Given the description of an element on the screen output the (x, y) to click on. 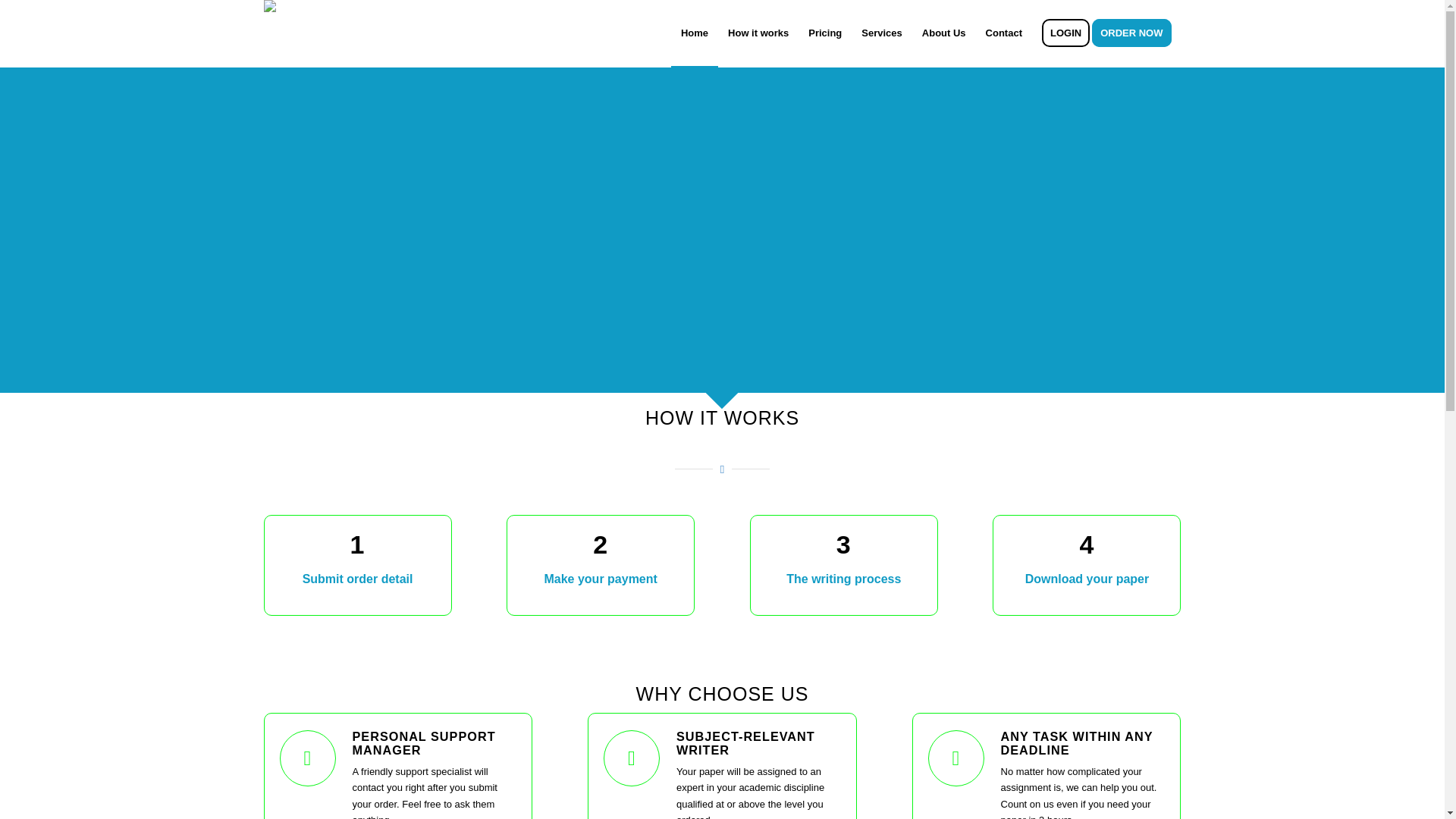
About Us (943, 33)
Services (881, 33)
ORDER NOW (1136, 33)
LOGIN (1065, 33)
How it works (757, 33)
